Given the description of an element on the screen output the (x, y) to click on. 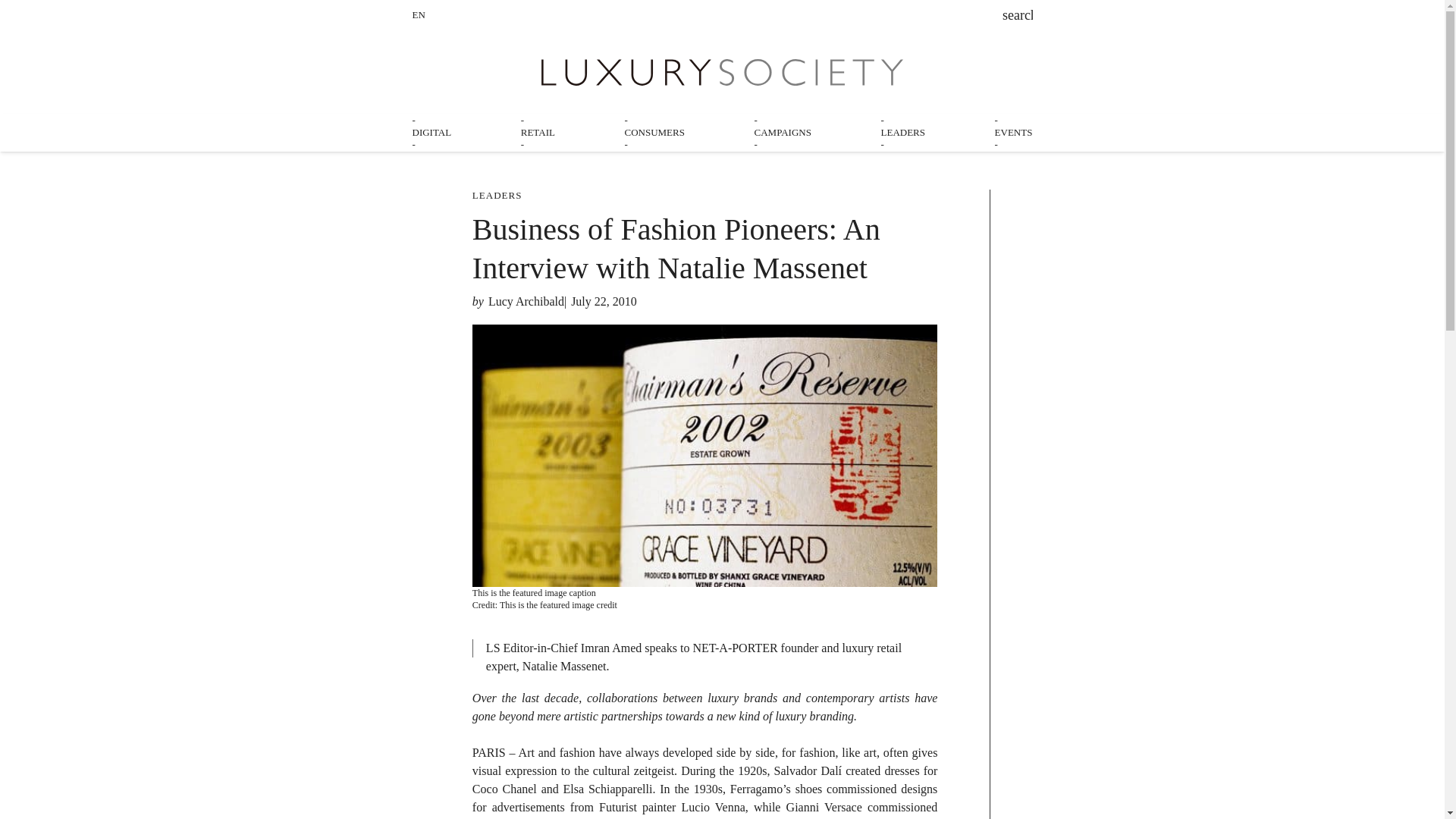
LEADERS (903, 132)
DIGITAL (431, 132)
search (1017, 16)
EVENTS (1013, 132)
RETAIL (537, 132)
CONSUMERS (654, 132)
EN (418, 14)
CAMPAIGNS (782, 132)
Lucy Archibald (525, 300)
